Given the description of an element on the screen output the (x, y) to click on. 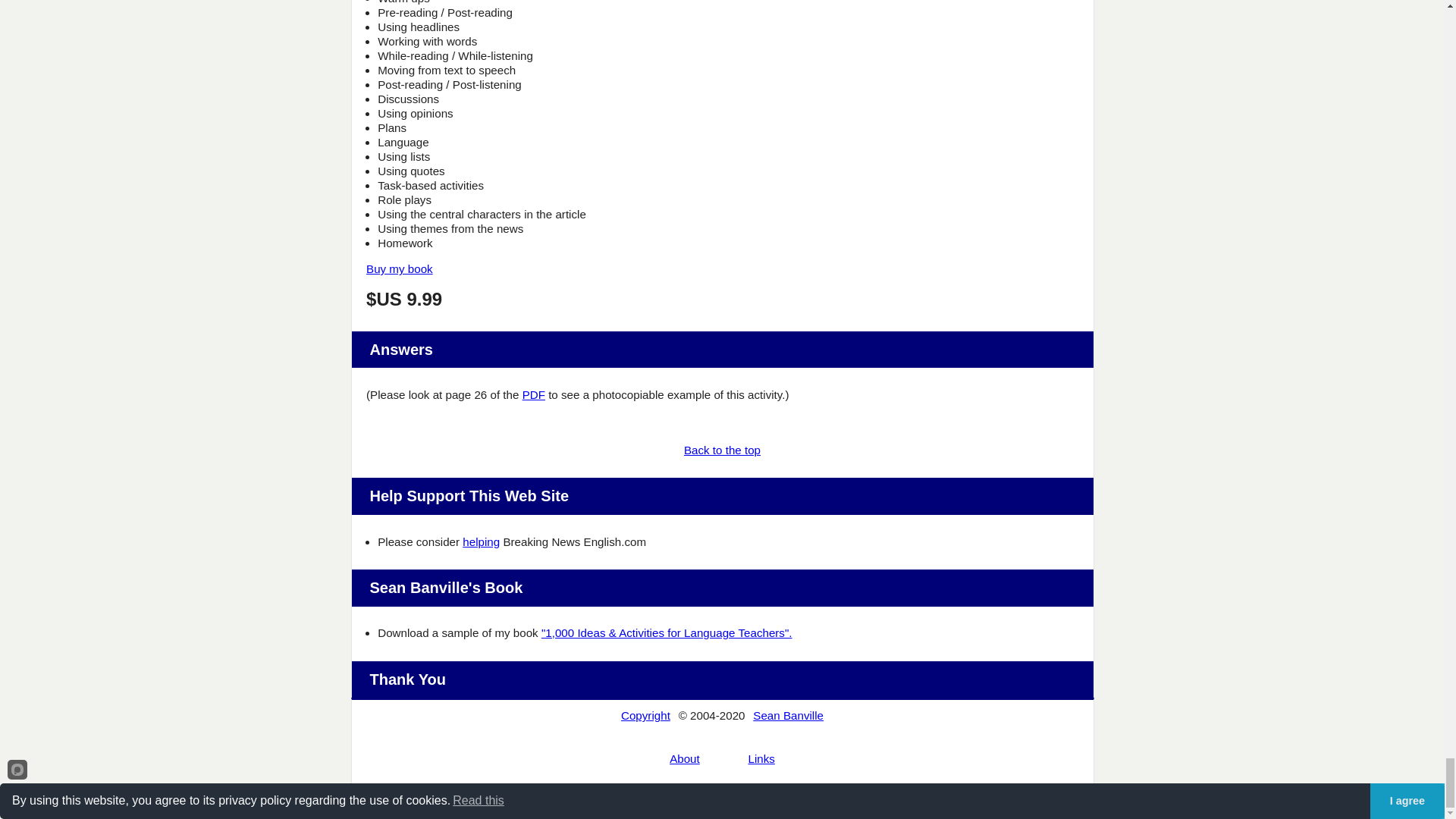
PDF (533, 394)
Buy my book (399, 268)
Go back to the top (722, 449)
